Given the description of an element on the screen output the (x, y) to click on. 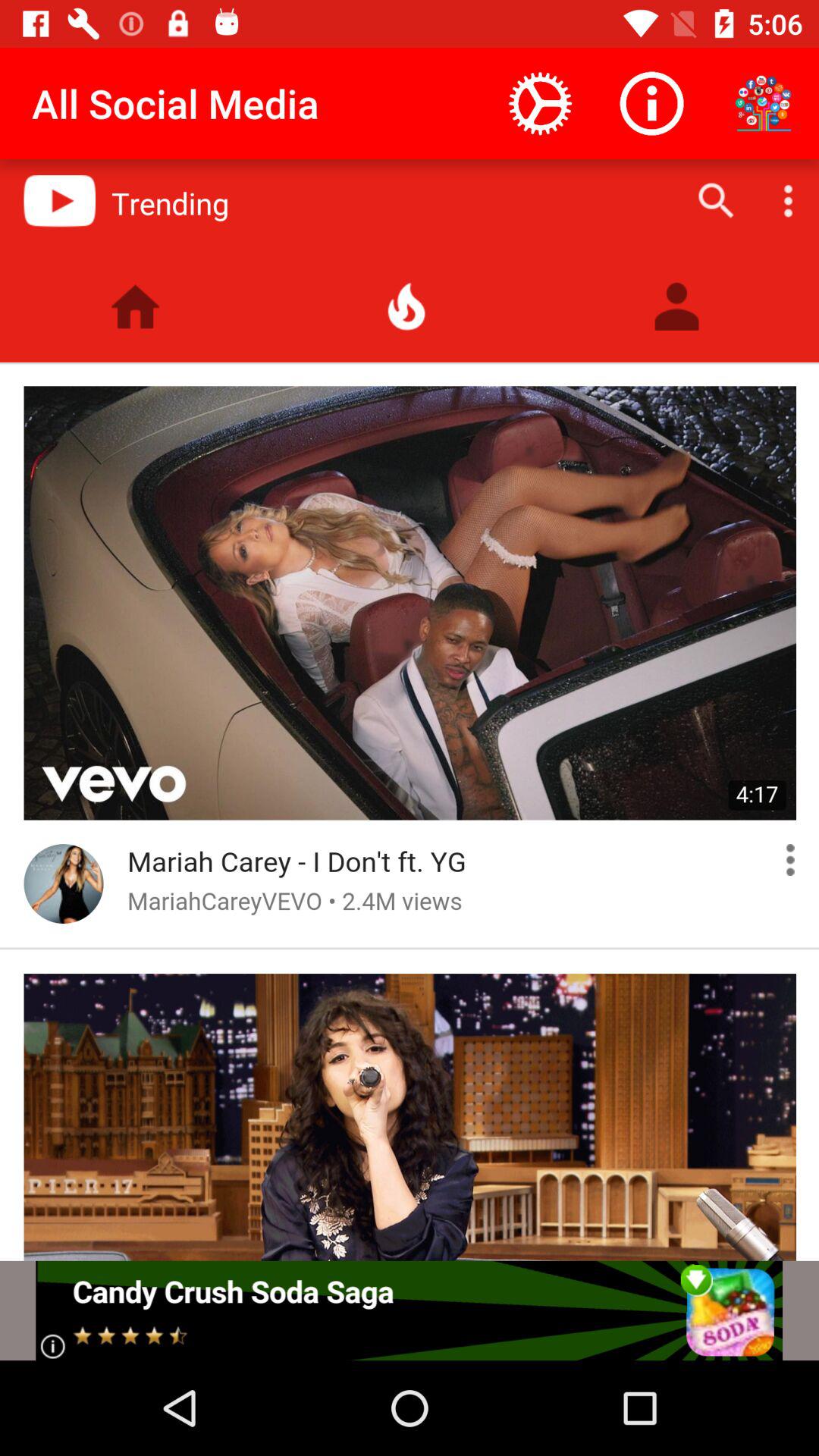
go to adverstment option (408, 1310)
